Given the description of an element on the screen output the (x, y) to click on. 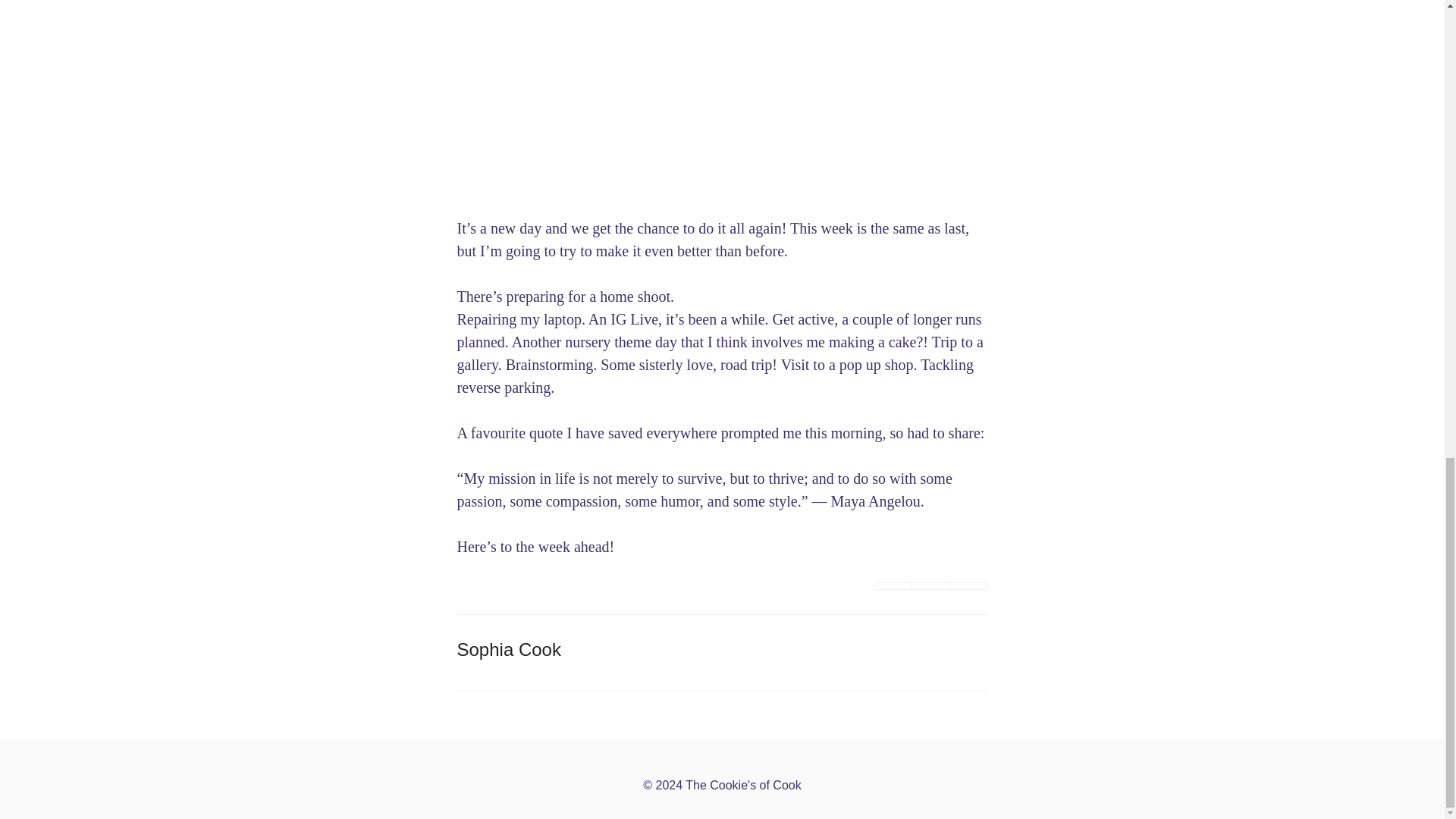
Share on Twitter (892, 585)
Sophia Cook (508, 649)
Share on Pinterest (968, 585)
Share on Facebook (930, 585)
